Given the description of an element on the screen output the (x, y) to click on. 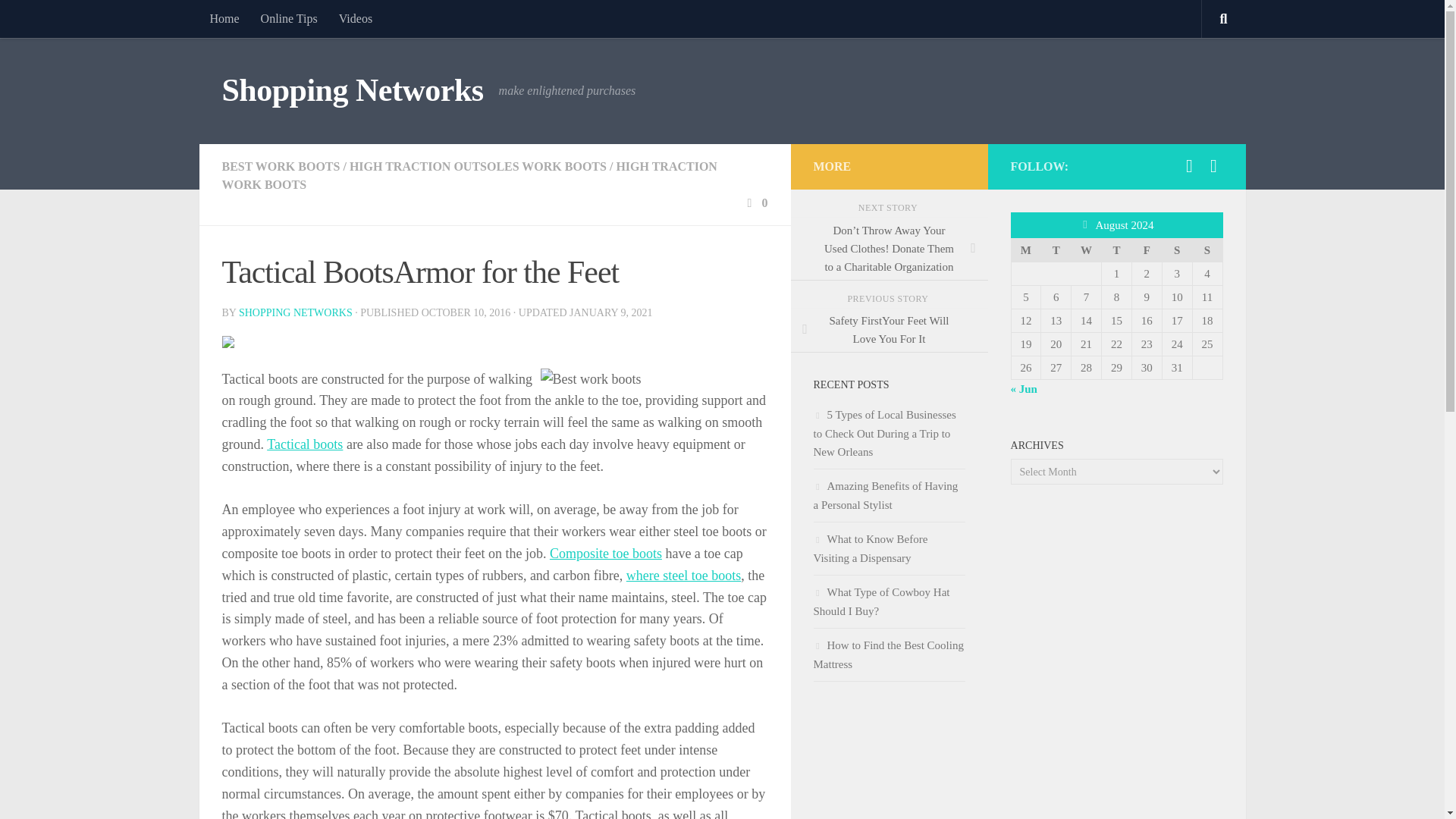
Tactical boots (304, 444)
Posts by Shopping Networks (295, 312)
Shopping Networks (352, 90)
Videos (355, 18)
HIGH TRACTION OUTSOLES WORK BOOTS (478, 165)
Desert boots, Heavy duty work boots (606, 553)
See here (683, 575)
Waterproof boots (304, 444)
Online Tips (289, 18)
Composite toe boots (606, 553)
